Given the description of an element on the screen output the (x, y) to click on. 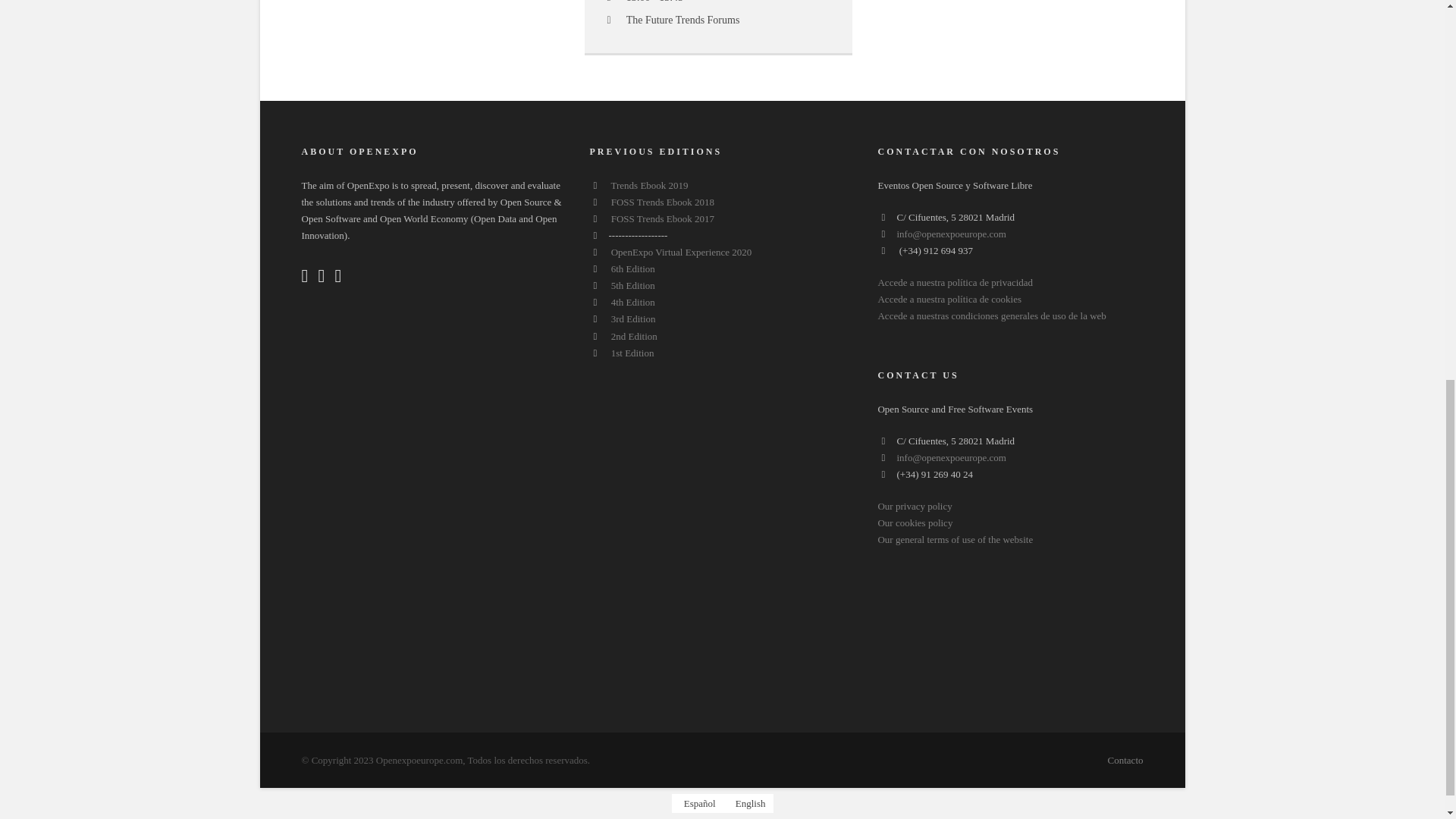
FOSS Trends Ebook 2018 (662, 202)
Accede a nuestras condiciones generales de uso de la web (991, 315)
Our general terms of use of the website (954, 539)
Our cookies policy (914, 522)
5th Edition (633, 285)
English (748, 803)
3rd Edition (633, 318)
FOSS Trends Ebook 2017 (662, 218)
Our privacy policy (914, 505)
Contacto (1125, 759)
